Given the description of an element on the screen output the (x, y) to click on. 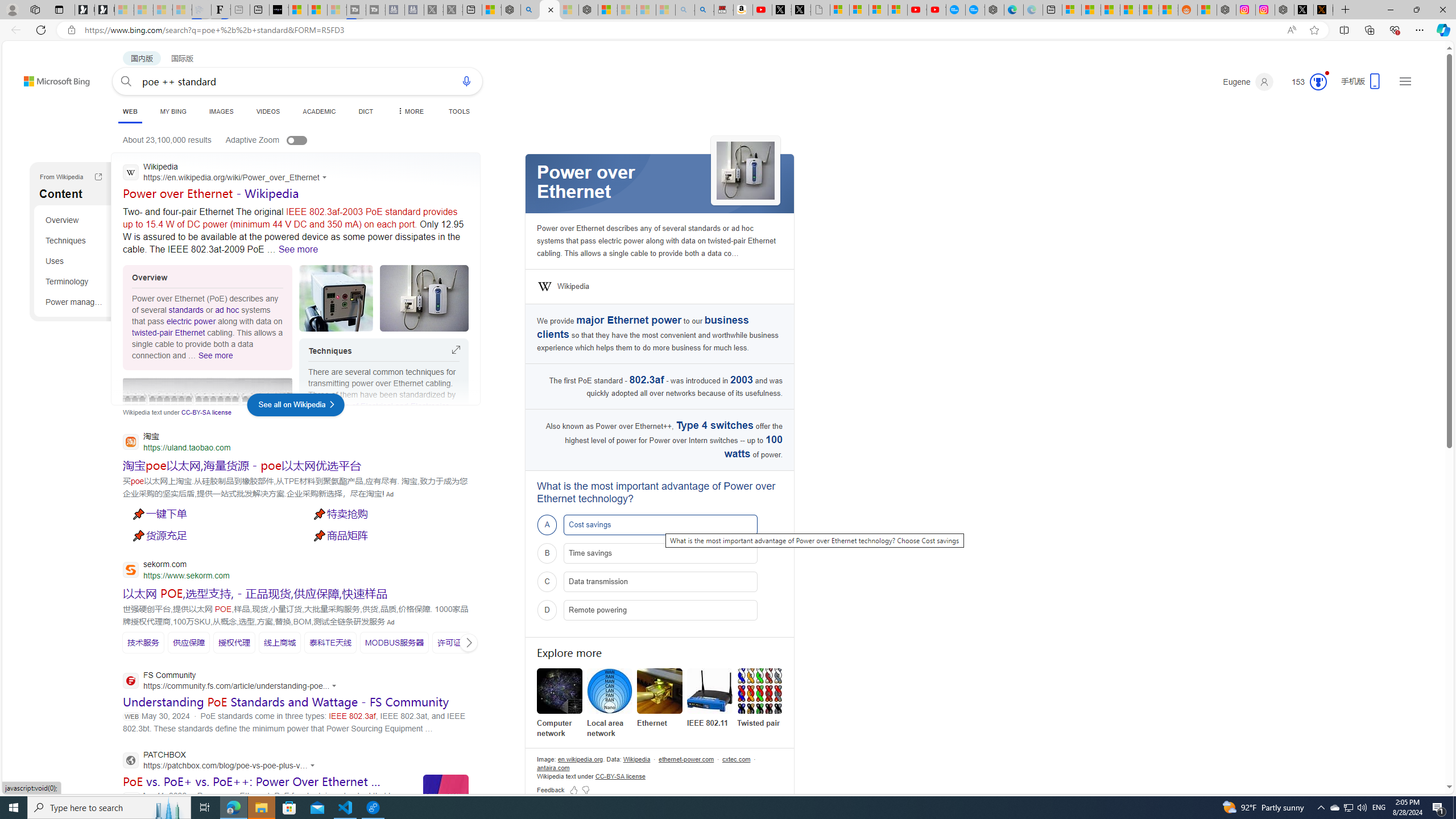
standards (185, 309)
